Given the description of an element on the screen output the (x, y) to click on. 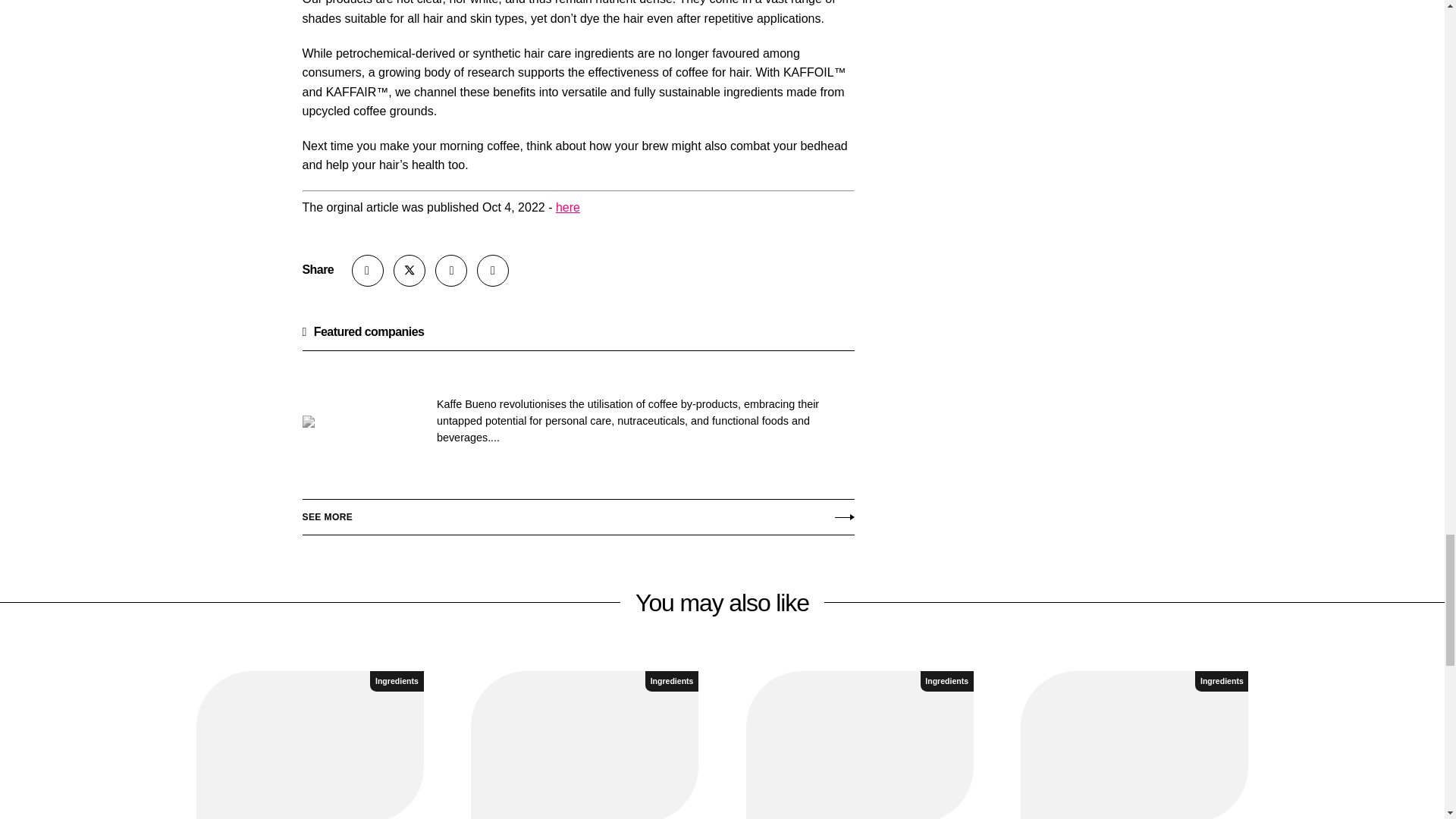
Follow Cosmetics Business on LinkedIn (451, 270)
Share this article (368, 270)
here (567, 206)
Follow Cosmetics Business on X (409, 270)
